Given the description of an element on the screen output the (x, y) to click on. 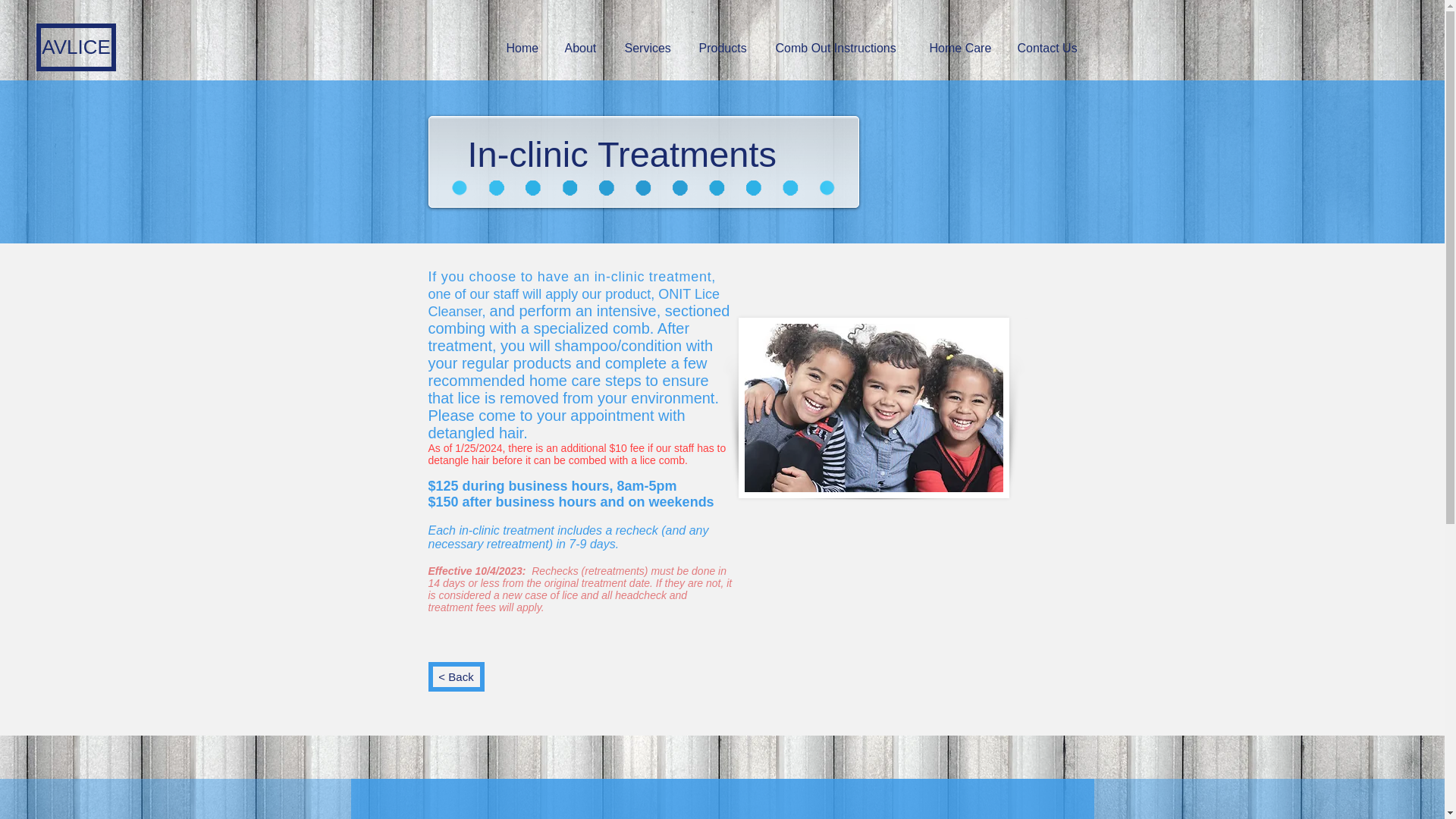
Products (724, 48)
Home (524, 48)
Services (649, 48)
Comb Out Instructions (841, 48)
Contact Us (1049, 48)
AVLICE (76, 47)
Home Care (961, 48)
About (582, 48)
